Given the description of an element on the screen output the (x, y) to click on. 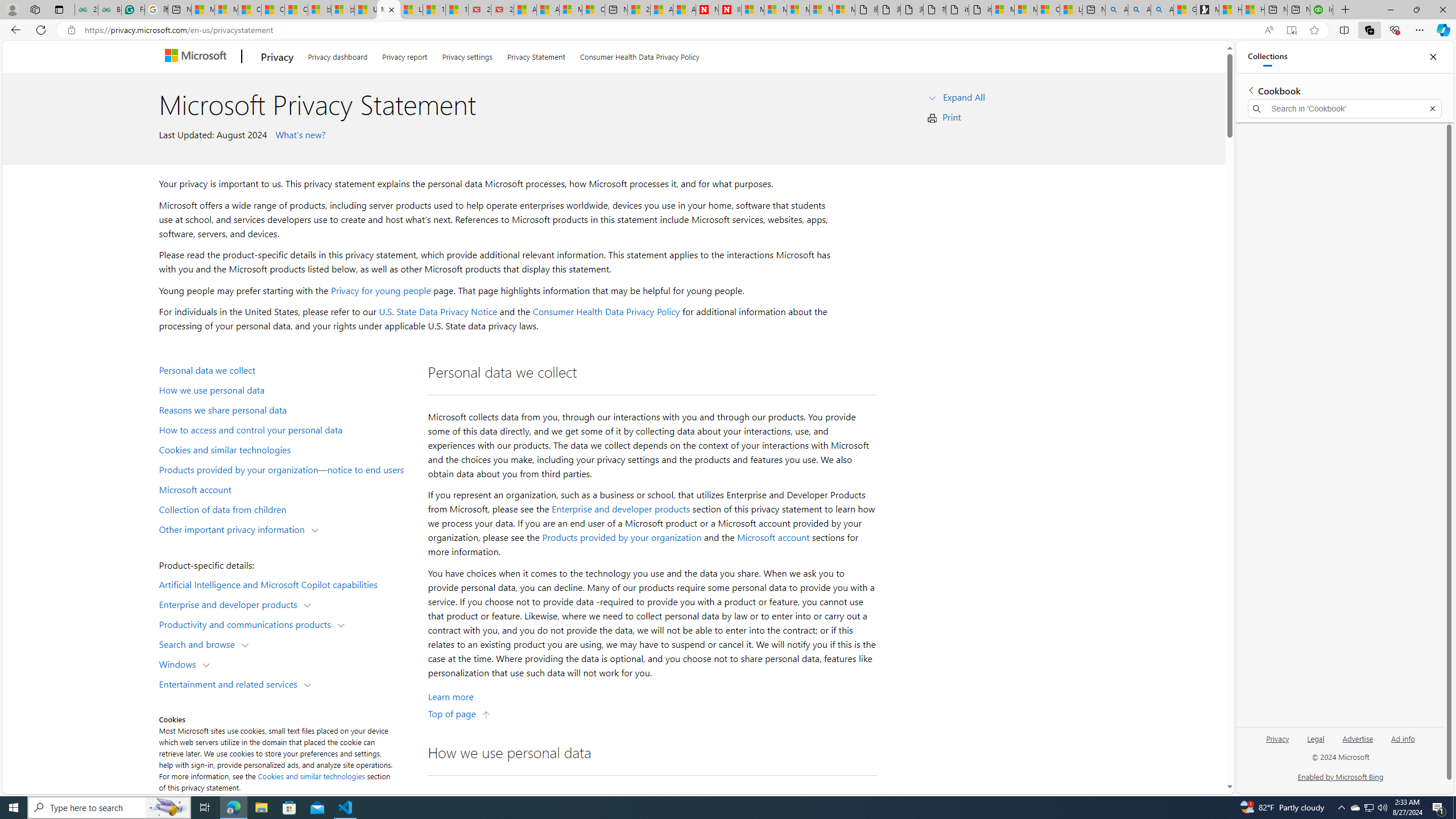
21 Movies That Outdid the Books They Were Based On (502, 9)
Privacy settings (466, 54)
Artificial Intelligence and Microsoft Copilot capabilities (287, 583)
Expand All (963, 96)
Privacy dashboard (337, 54)
Search and browse (199, 643)
